Given the description of an element on the screen output the (x, y) to click on. 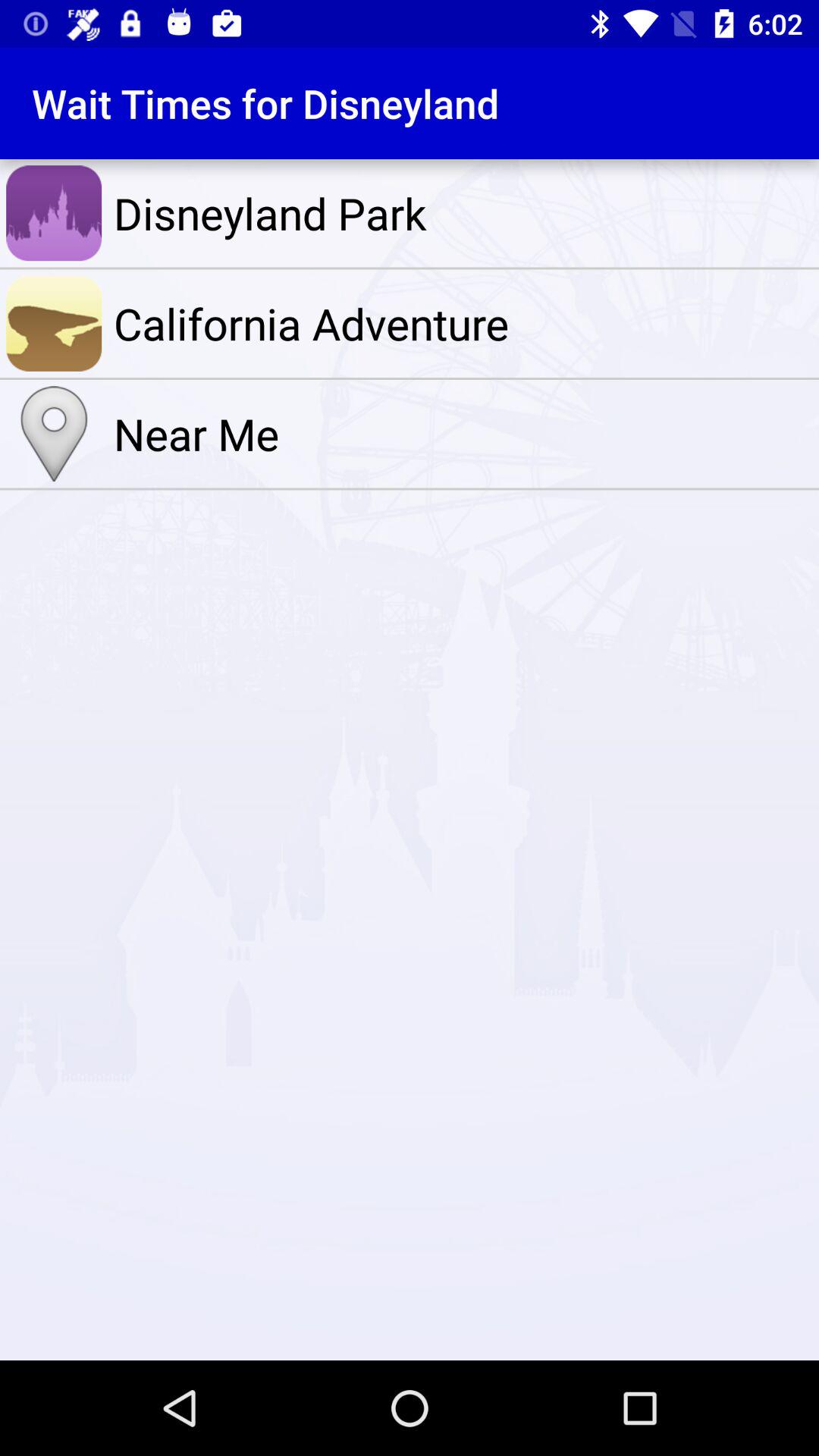
launch the icon below the california adventure item (462, 433)
